Given the description of an element on the screen output the (x, y) to click on. 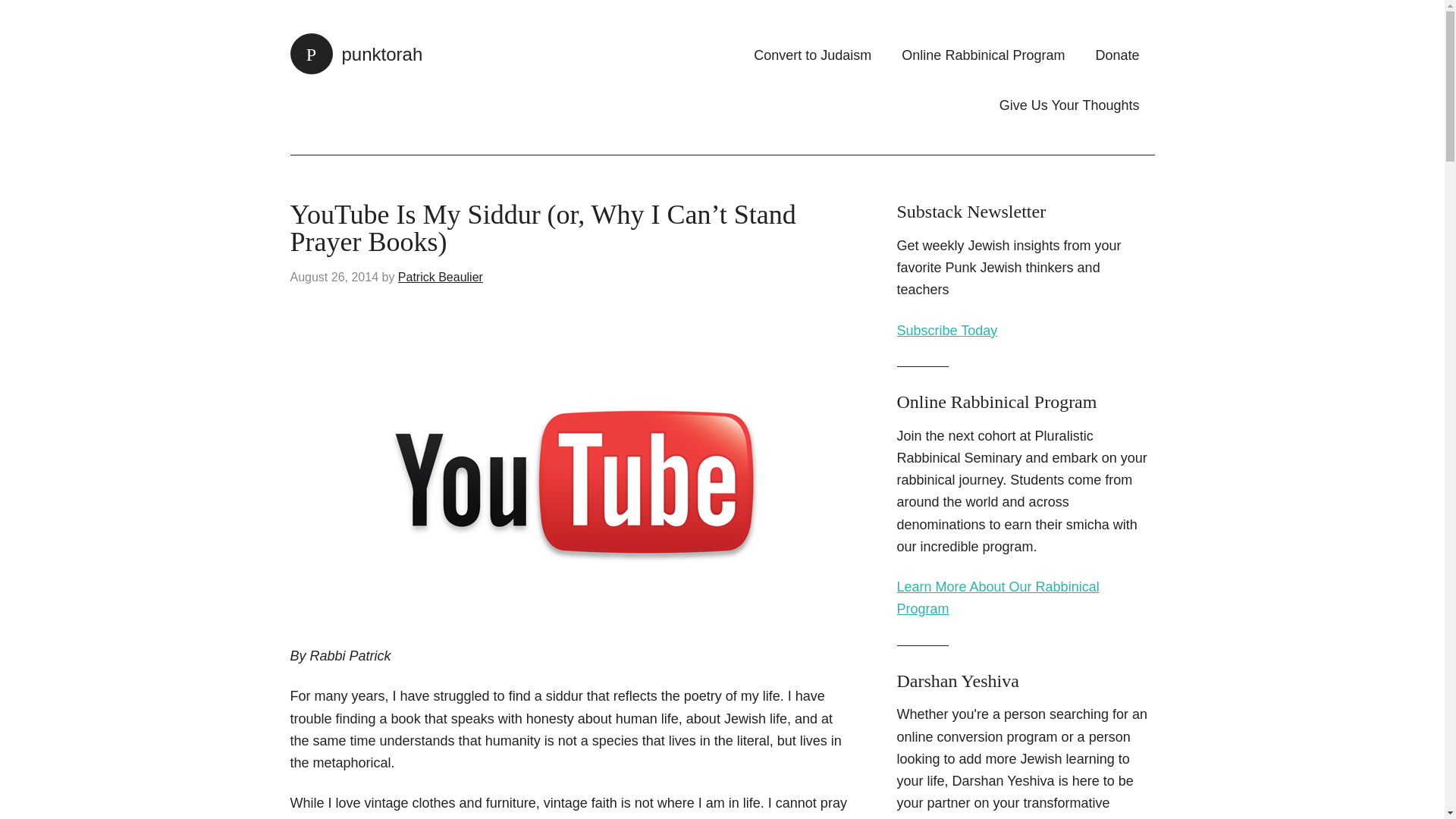
Convert to Judaism (812, 55)
punktorah (355, 54)
Online Rabbinical Program (983, 55)
Learn More About Our Rabbinical Program (997, 597)
Give Us Your Thoughts (1069, 105)
Subscribe Today (946, 330)
Donate (1117, 55)
Patrick Beaulier (440, 277)
